Given the description of an element on the screen output the (x, y) to click on. 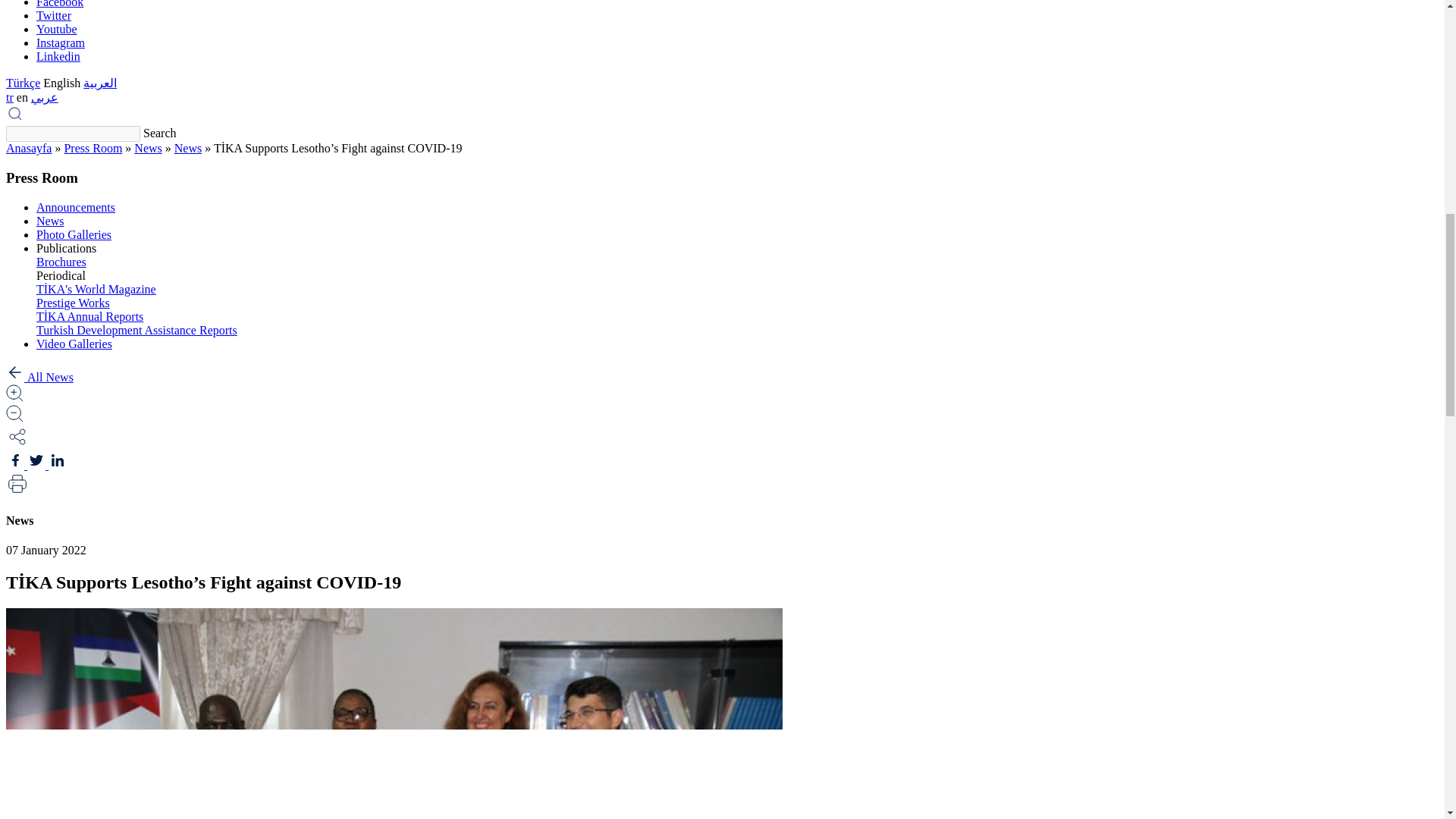
Twitter (53, 15)
Instagram (60, 42)
Facebook (59, 4)
Youtube (56, 29)
